Given the description of an element on the screen output the (x, y) to click on. 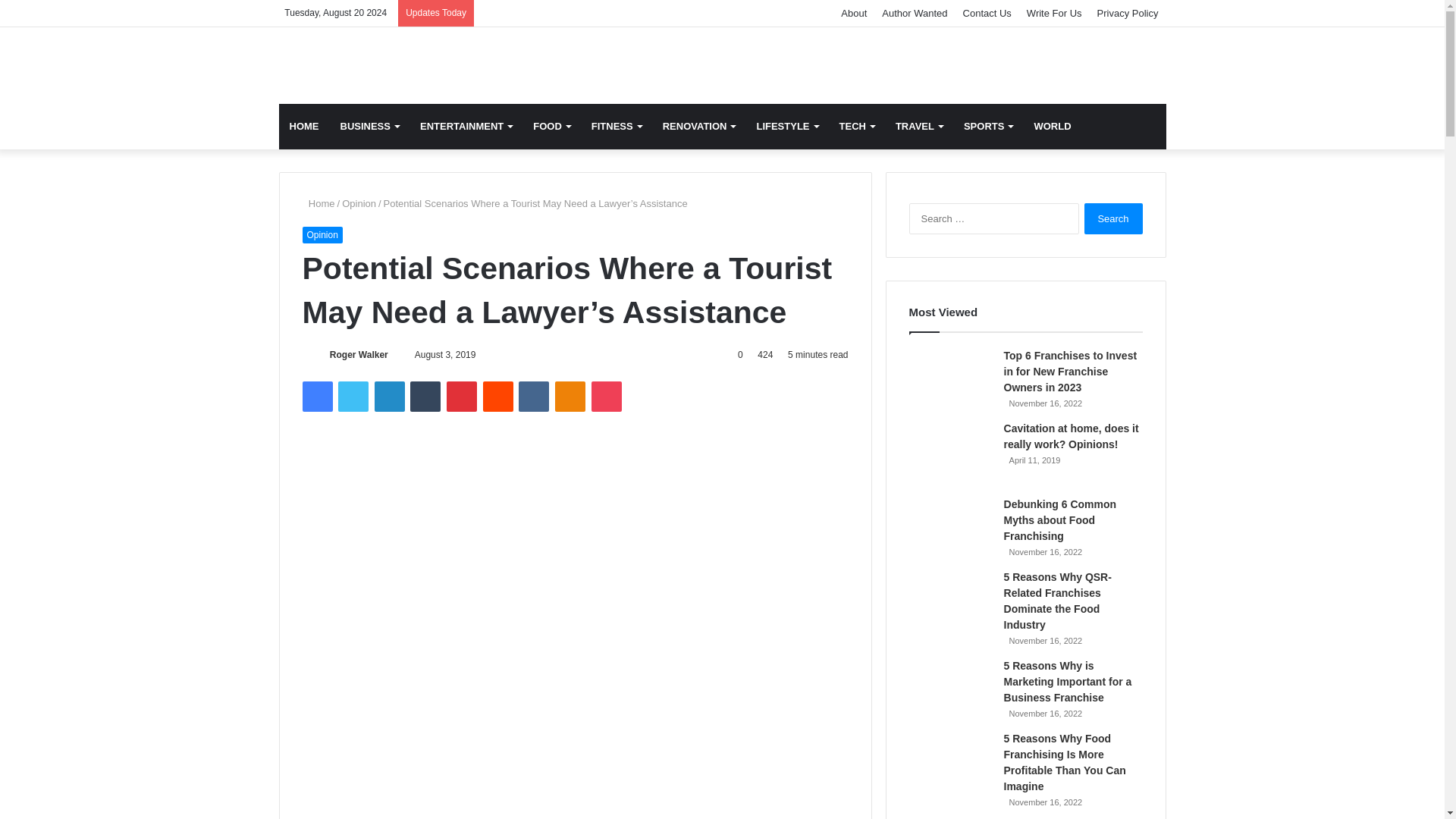
Tumblr (425, 396)
Author Wanted (915, 13)
Write For Us (1054, 13)
Pinterest (461, 396)
Roger Walker (359, 354)
LinkedIn (389, 396)
About (853, 13)
VKontakte (533, 396)
Contact Us (987, 13)
Search (1113, 218)
